Given the description of an element on the screen output the (x, y) to click on. 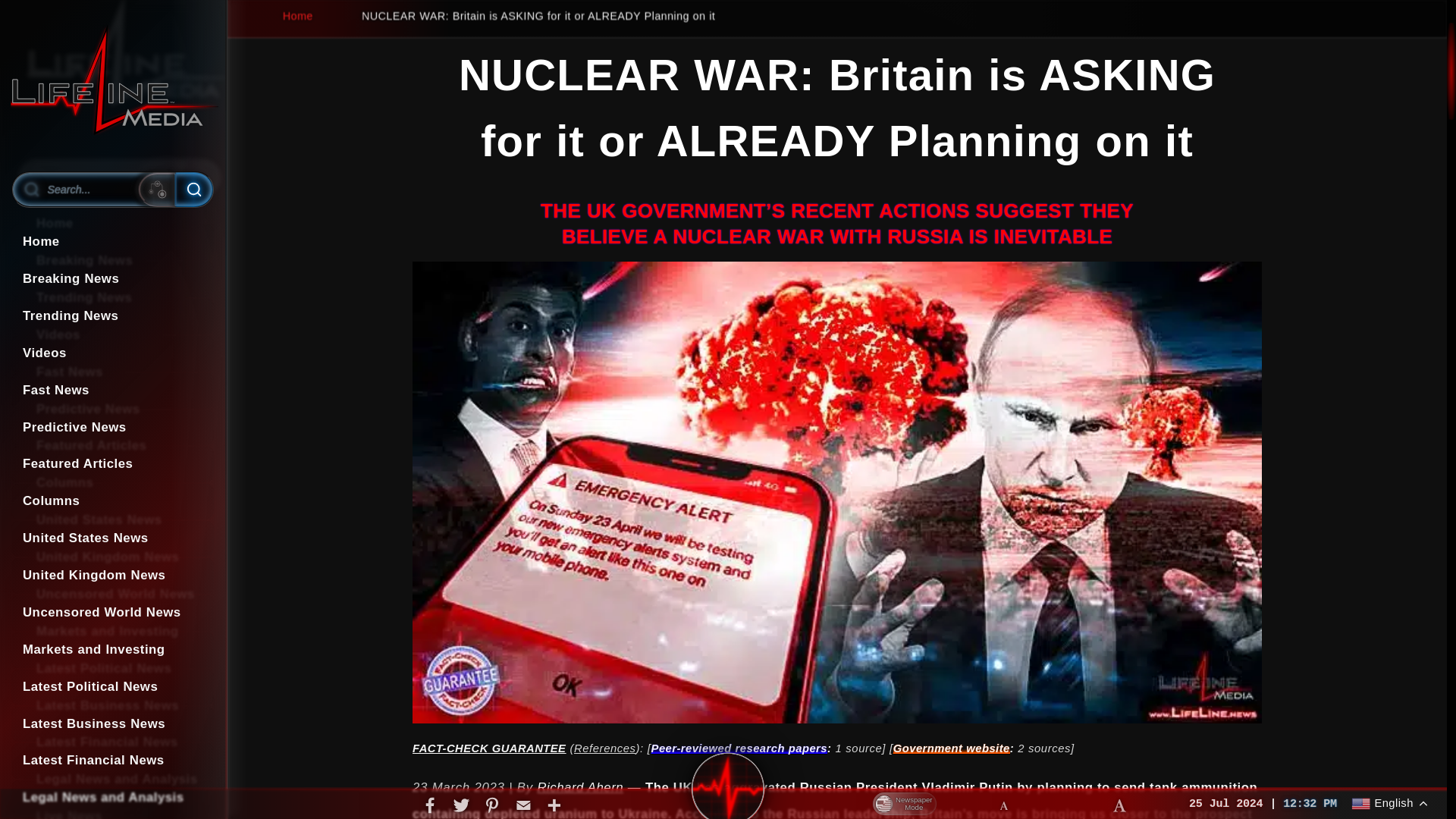
Predictive News (112, 427)
Videos (112, 353)
Trending News (112, 316)
Featured Articles (112, 464)
Uncensored World News (112, 612)
Home (112, 242)
Latest Political News (112, 687)
Richard Ahern (580, 787)
United Kingdom News (112, 575)
FACT-CHECK GUARANTEE (489, 748)
Latest Business News (112, 724)
Home (283, 15)
Columns (112, 501)
Latest Financial News (112, 760)
